Given the description of an element on the screen output the (x, y) to click on. 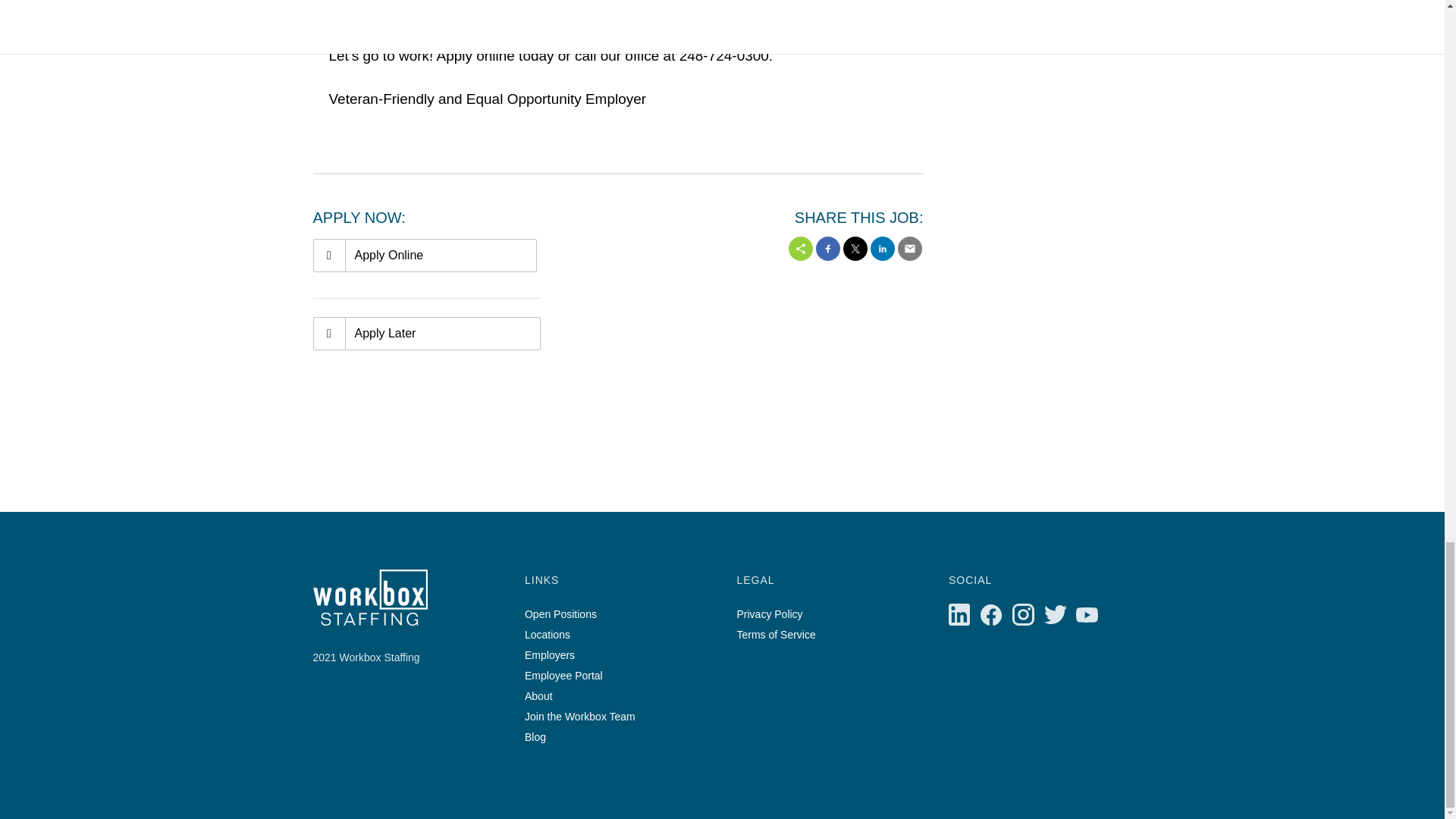
Apply Online (424, 255)
Blog (535, 736)
Open Positions (560, 613)
Apply Later (426, 333)
Locations (547, 634)
Privacy Policy (769, 613)
Join the Workbox Team (579, 716)
Employee Portal (563, 675)
Employers (549, 654)
About (538, 695)
Terms of Service (775, 634)
